Given the description of an element on the screen output the (x, y) to click on. 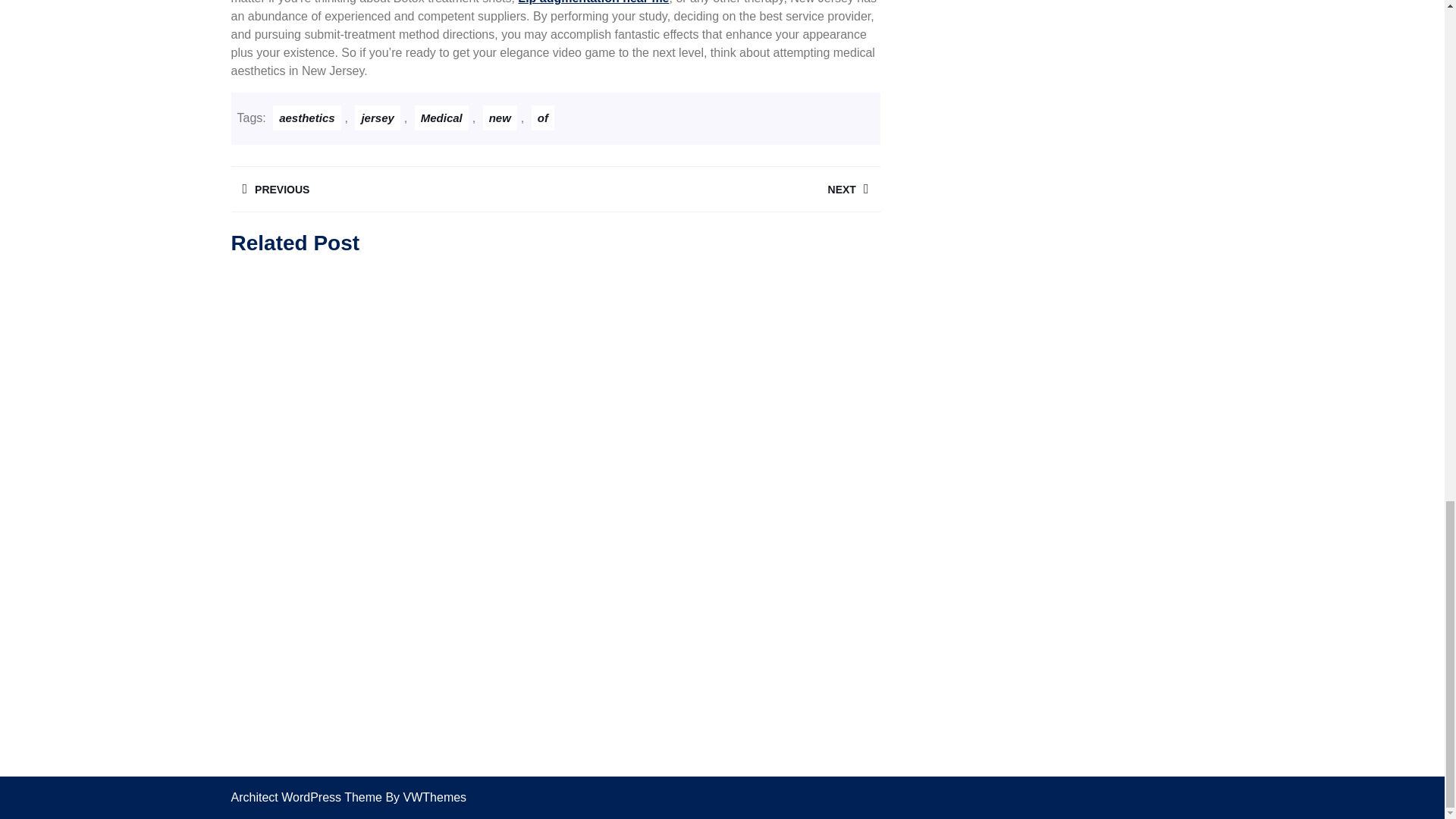
new (499, 117)
of (716, 189)
Lip augmentation near me (392, 189)
Medical (542, 117)
jersey (593, 2)
aesthetics (441, 117)
